Given the description of an element on the screen output the (x, y) to click on. 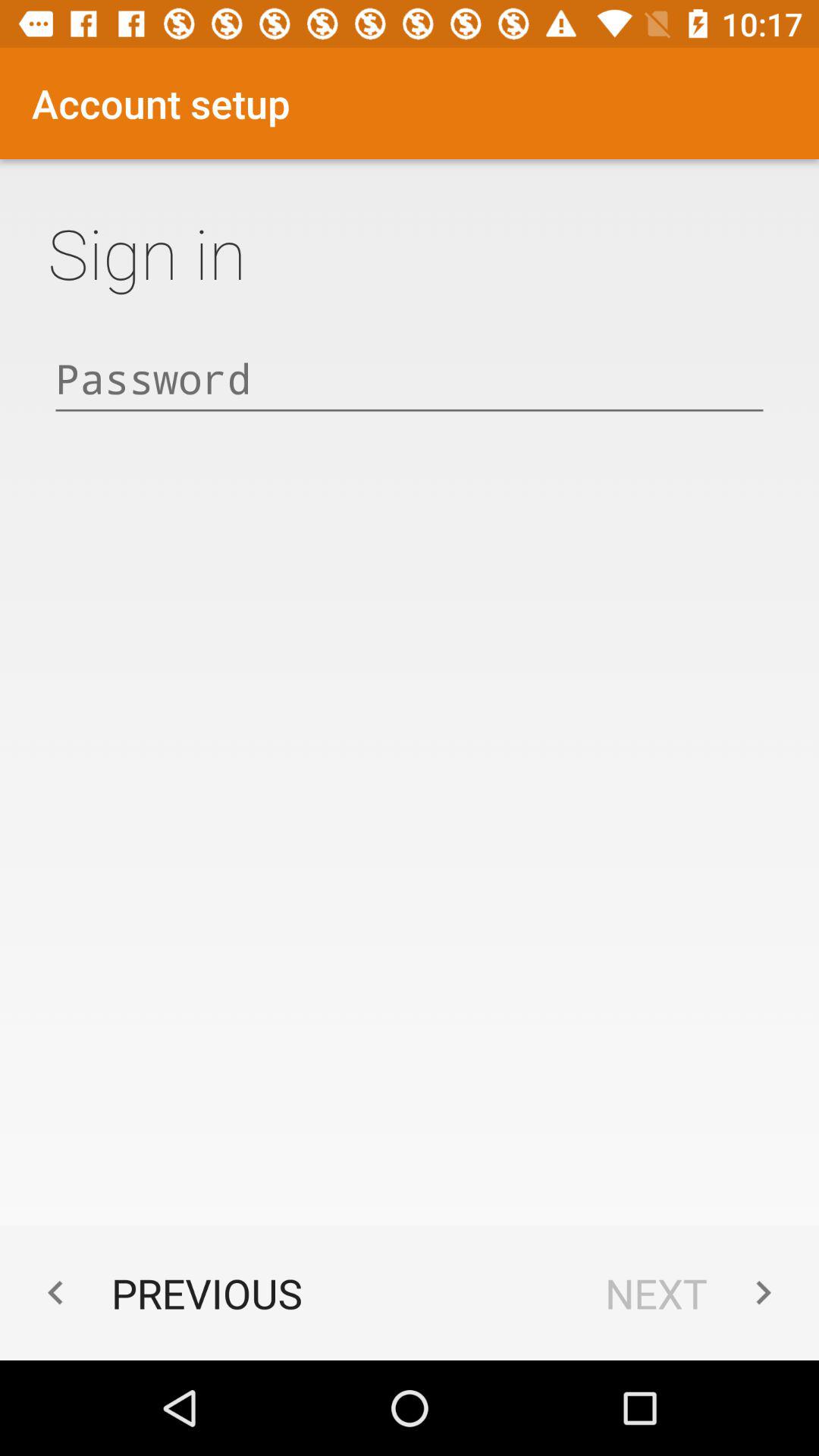
turn off the app at the bottom right corner (696, 1292)
